Given the description of an element on the screen output the (x, y) to click on. 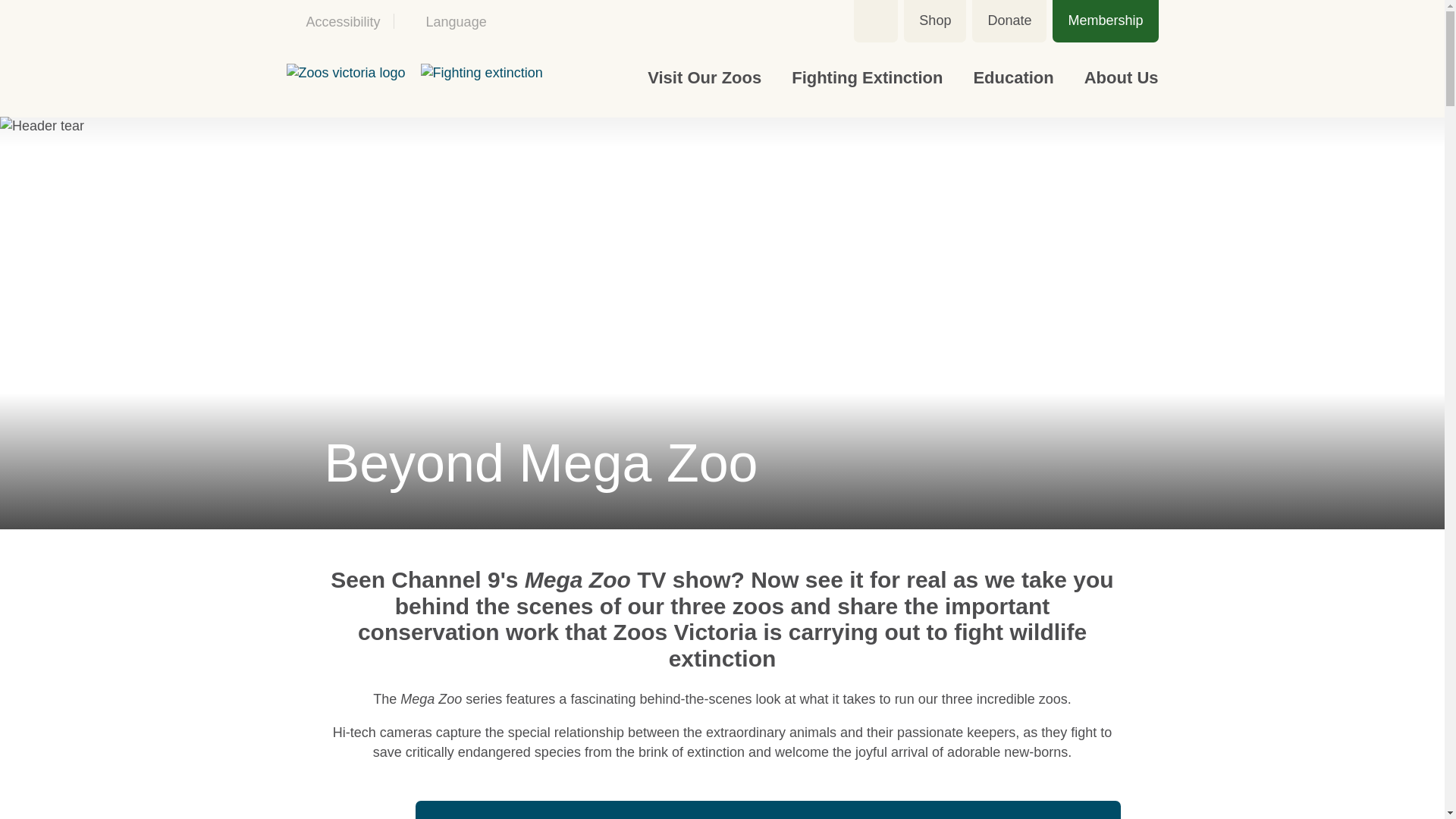
Accessibility (339, 21)
Visit Our Zoos (703, 77)
Shop (935, 21)
Education (1013, 77)
Language (446, 21)
Fighting Extinction (867, 77)
Membership (1104, 21)
About Us (1113, 77)
Donate (1009, 21)
